Given the description of an element on the screen output the (x, y) to click on. 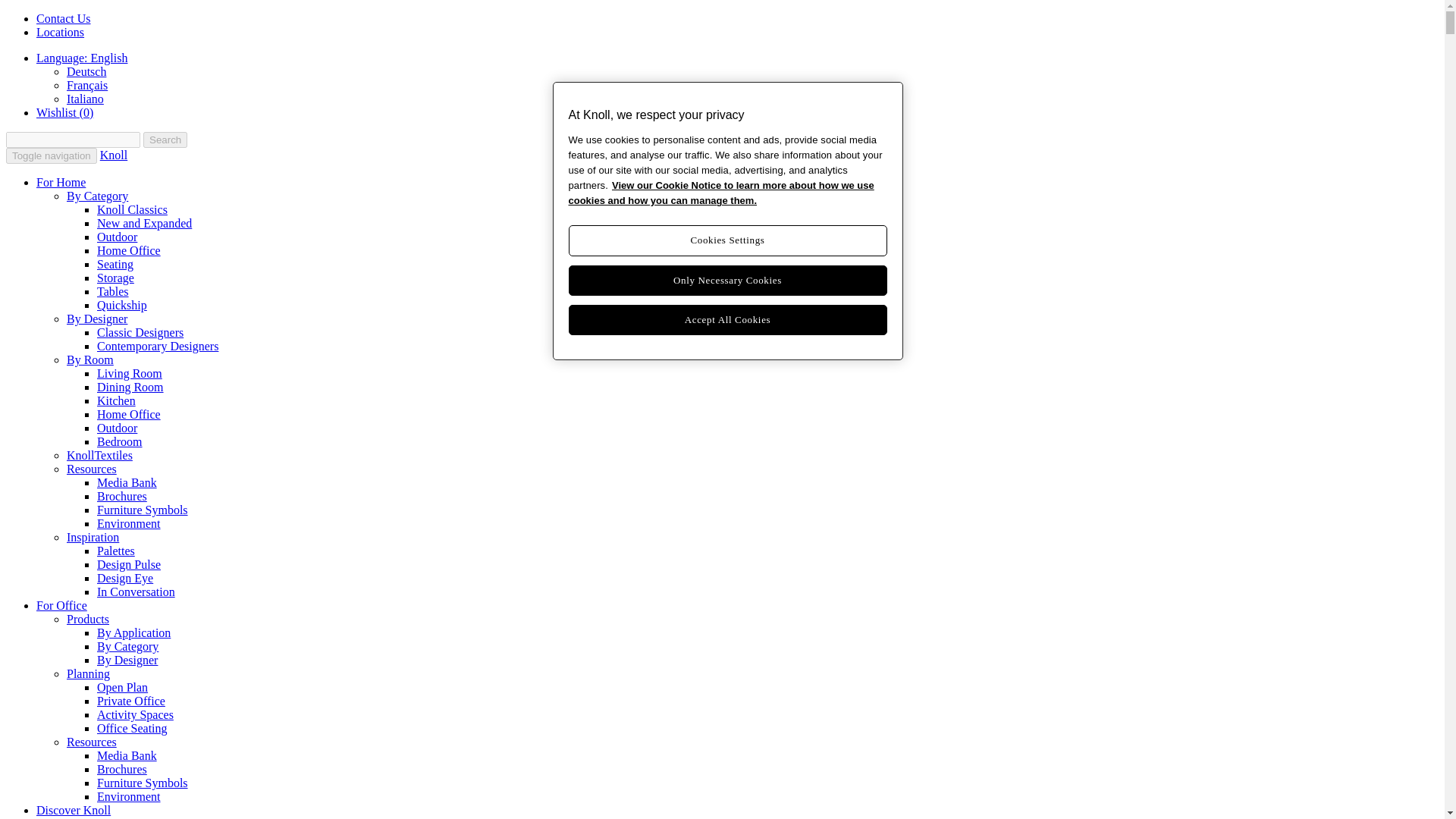
For Home (60, 182)
Knoll (114, 154)
Living Room (129, 373)
Media Bank (127, 481)
Furniture Symbols (142, 509)
KnollTextiles (99, 454)
By Category (97, 195)
By Designer (97, 318)
Design Eye (124, 577)
Home Office (128, 413)
Classic Designers (140, 332)
Inspiration (92, 536)
Resources (91, 468)
Contact Us (63, 18)
Storage (115, 277)
